Given the description of an element on the screen output the (x, y) to click on. 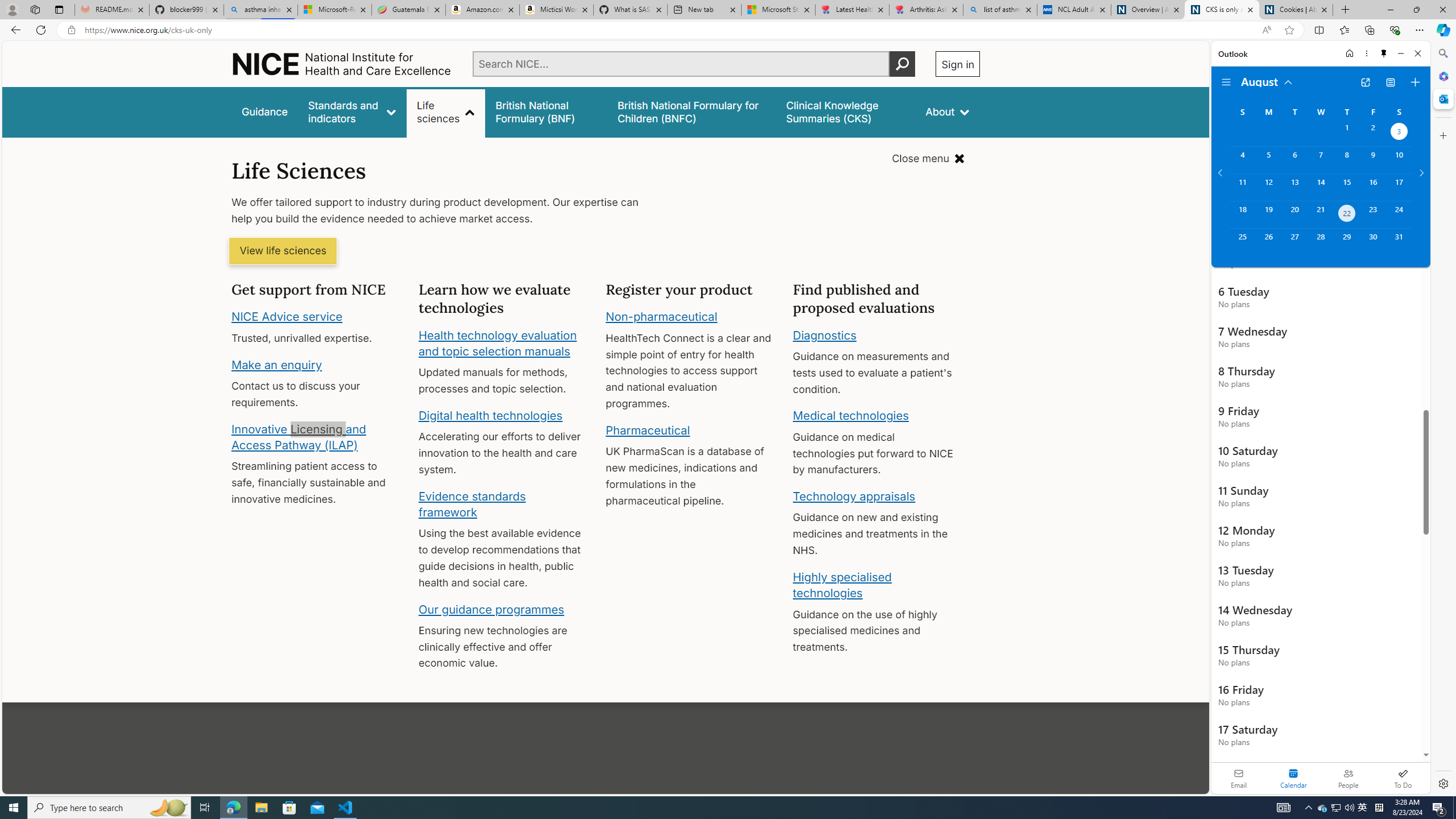
Thursday, August 8, 2024.  (1346, 159)
Wednesday, August 14, 2024.  (1320, 186)
Create event (1414, 82)
About (947, 111)
Thursday, August 1, 2024.  (1346, 132)
Thursday, August 29, 2024.  (1346, 241)
false (845, 111)
